Given the description of an element on the screen output the (x, y) to click on. 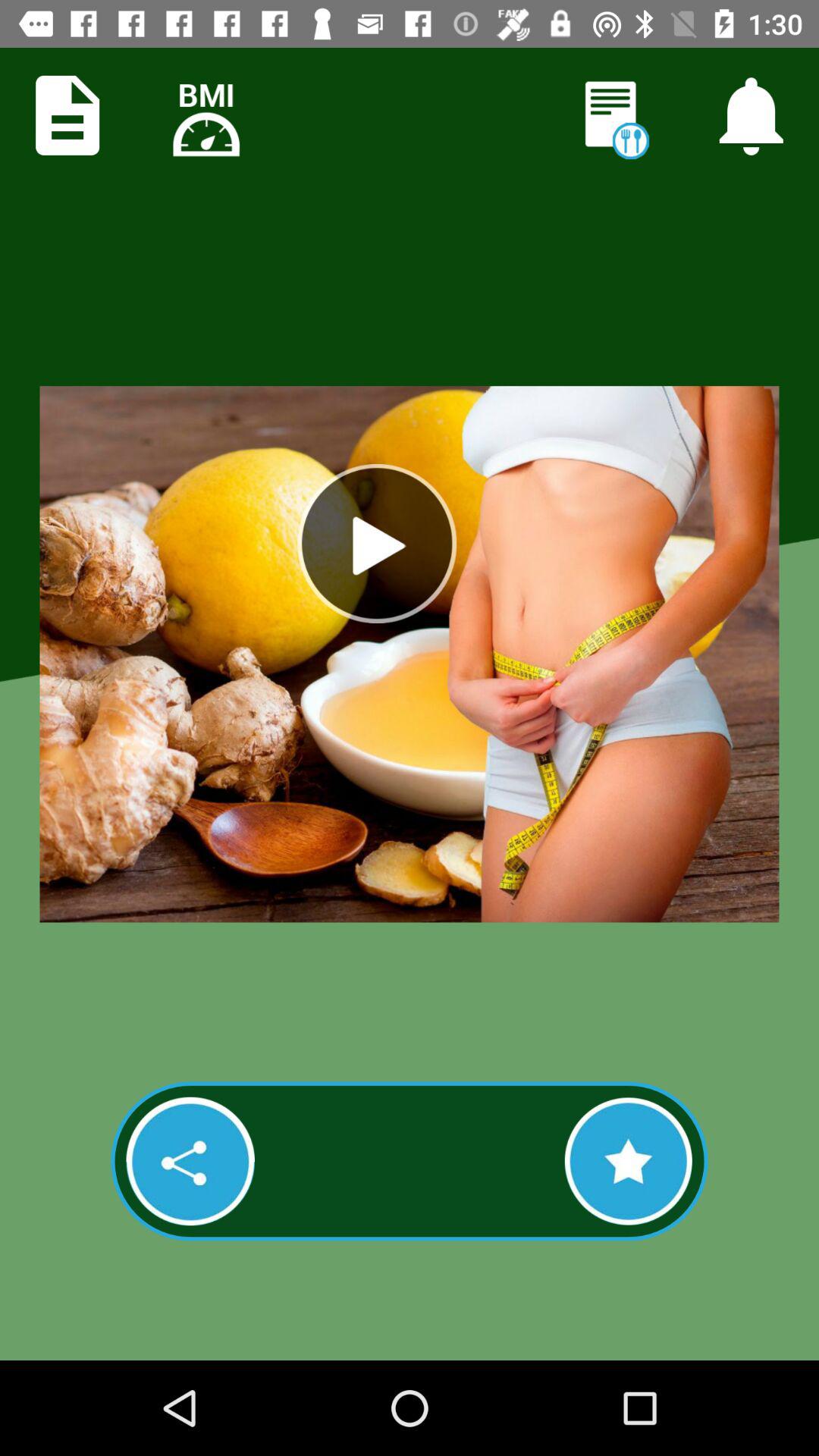
share the video (190, 1161)
